Given the description of an element on the screen output the (x, y) to click on. 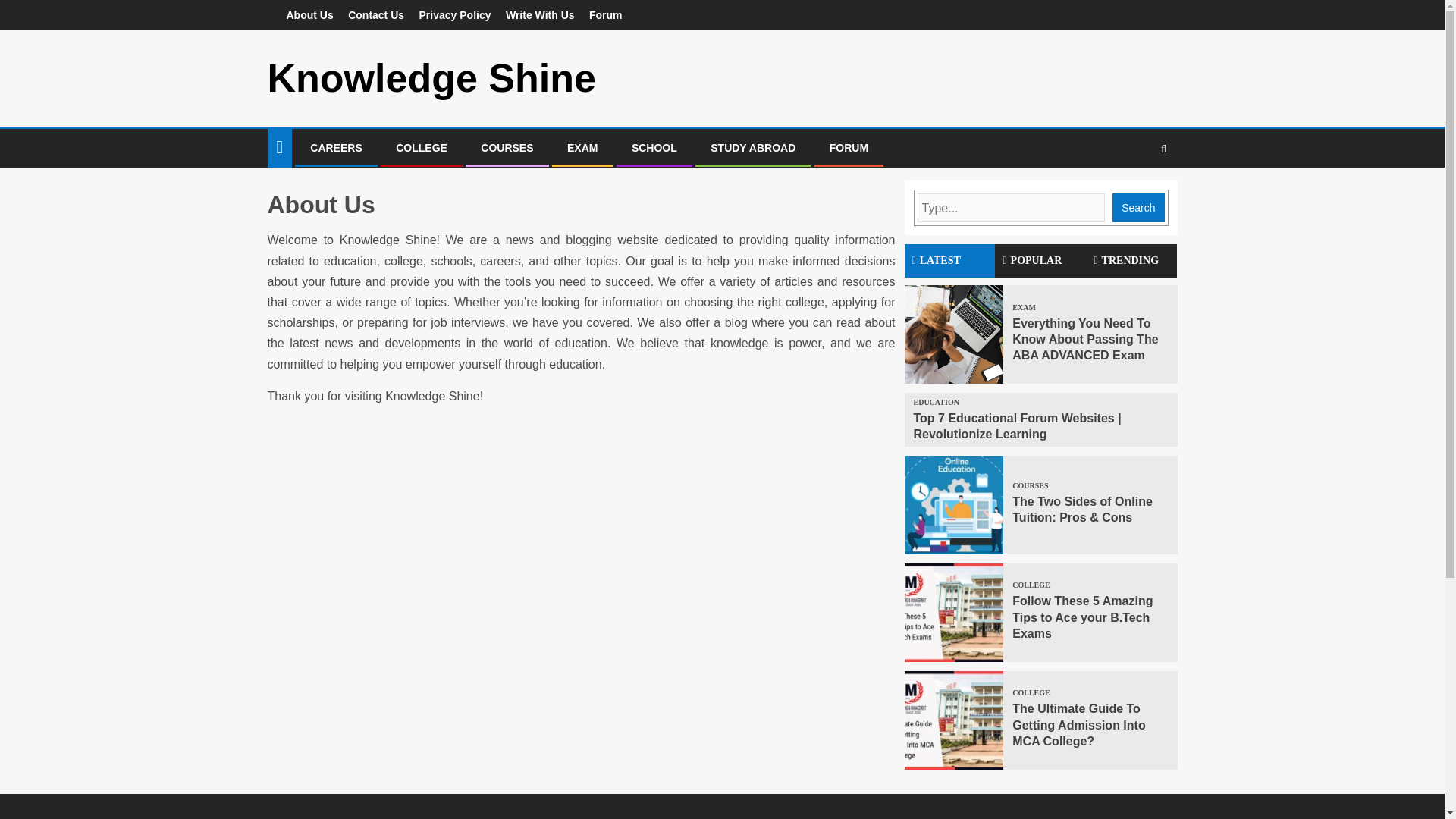
STUDY ABROAD (752, 147)
Search (1163, 148)
Search (1133, 193)
POPULAR (1040, 260)
Privacy Policy (455, 15)
Follow These 5 Amazing Tips to Ace your B.Tech Exams (1082, 616)
About Us (309, 15)
Write With Us (540, 15)
Contact Us (375, 15)
EDUCATION (937, 402)
COURSES (1031, 485)
TRENDING (1131, 260)
The Ultimate Guide To Getting Admission Into MCA College? (1077, 724)
CAREERS (335, 147)
FORUM (848, 147)
